Given the description of an element on the screen output the (x, y) to click on. 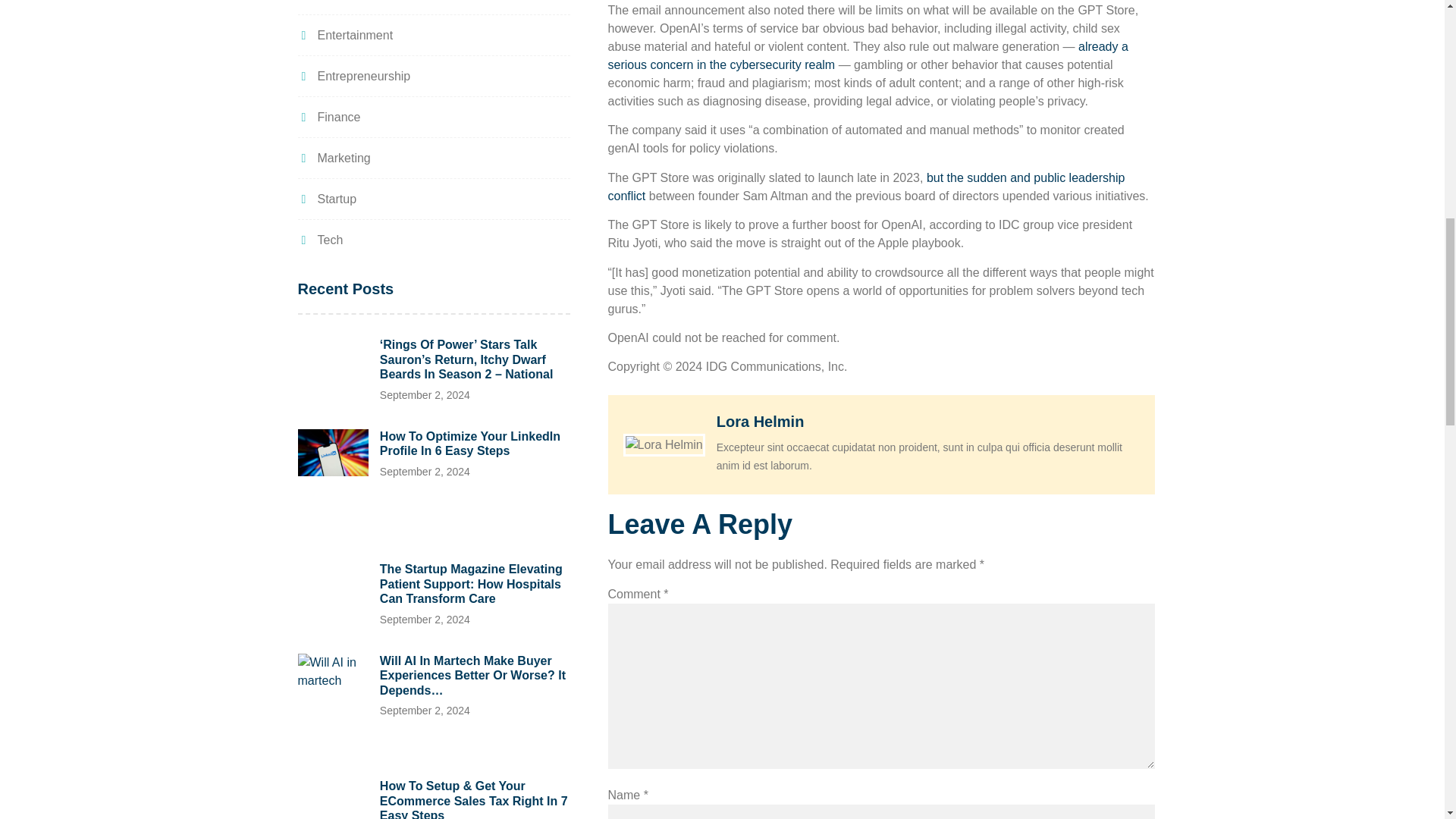
Startup (326, 199)
How To Optimize Your LinkedIn Profile In 6 Easy Steps (470, 443)
Tech (319, 239)
Finance (328, 117)
Marketing (333, 158)
Entertainment (345, 35)
Business (331, 2)
Entrepreneurship (353, 76)
